Given the description of an element on the screen output the (x, y) to click on. 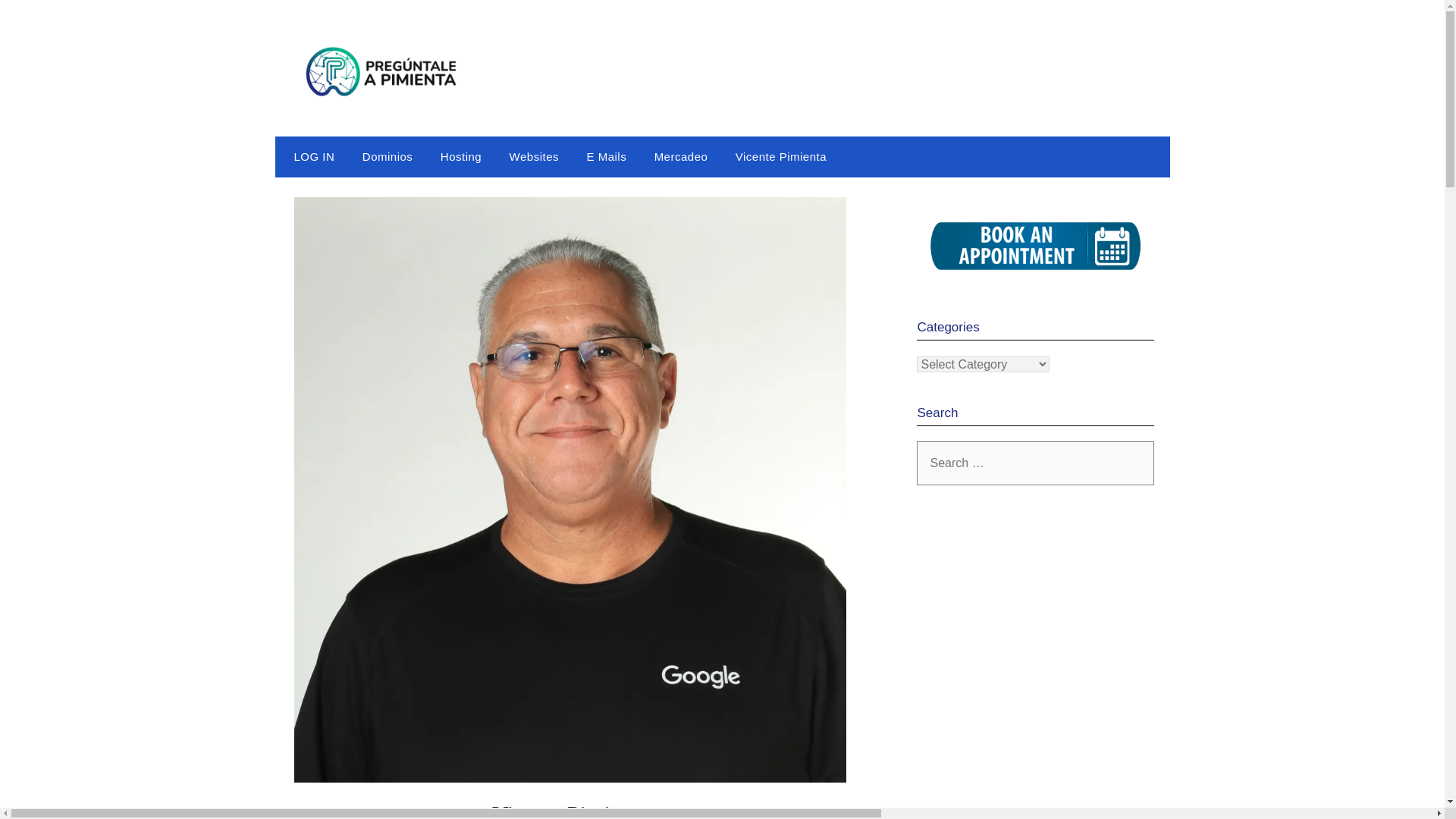
Dominios (387, 156)
Mercadeo (681, 156)
Vicente Pimienta (780, 156)
LOG IN (310, 156)
Hosting (460, 156)
Websites (533, 156)
E Mails (606, 156)
